Given the description of an element on the screen output the (x, y) to click on. 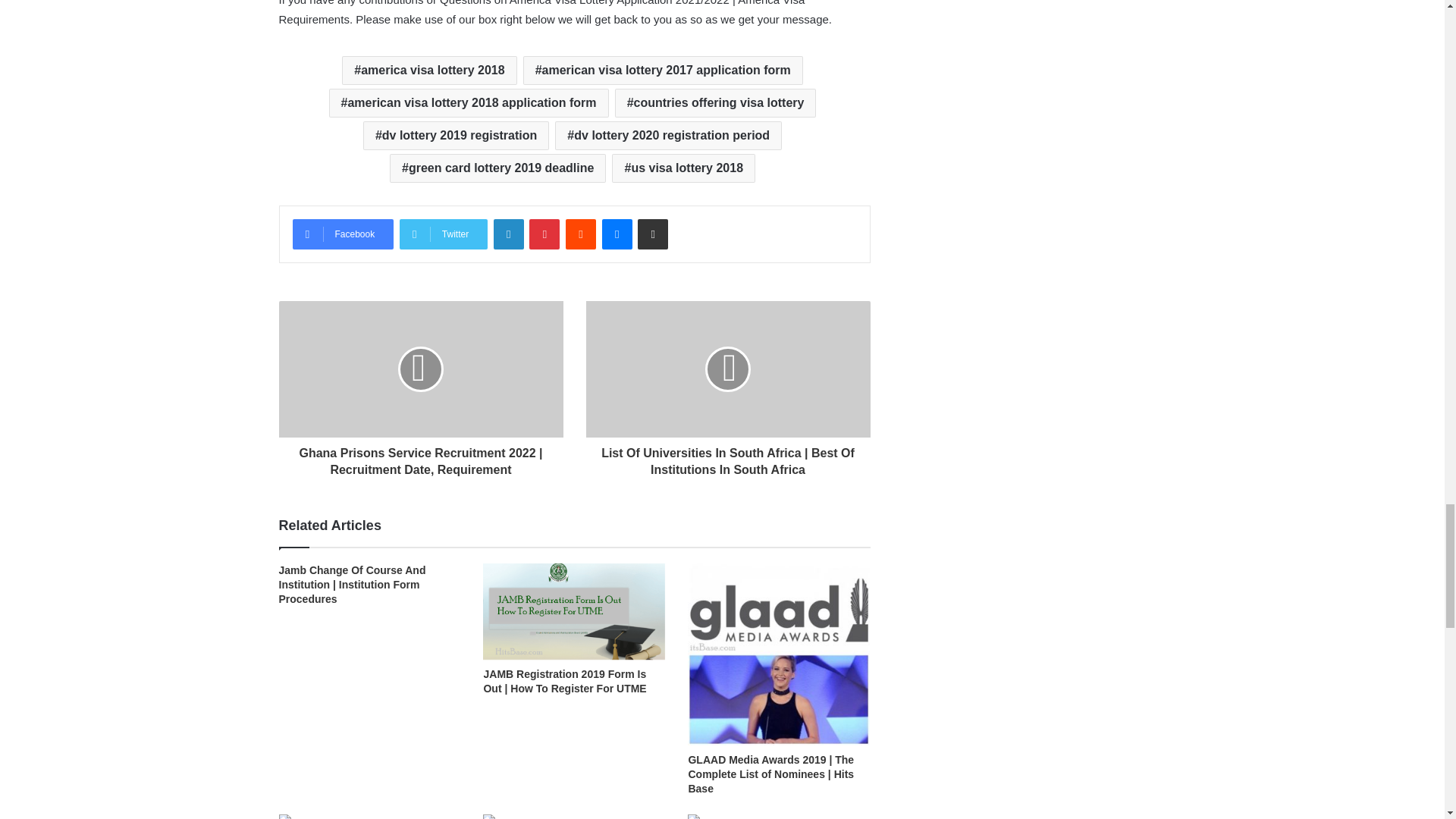
america visa lottery 2018 (429, 70)
Facebook (343, 234)
dv lottery 2020 registration period (667, 135)
Facebook (343, 234)
us visa lottery 2018 (683, 167)
Reddit (580, 234)
Pinterest (544, 234)
american visa lottery 2018 application form (468, 102)
american visa lottery 2017 application form (662, 70)
Share via Email (652, 234)
countries offering visa lottery (715, 102)
dv lottery 2019 registration (455, 135)
Twitter (442, 234)
green card lottery 2019 deadline (497, 167)
LinkedIn (508, 234)
